Given the description of an element on the screen output the (x, y) to click on. 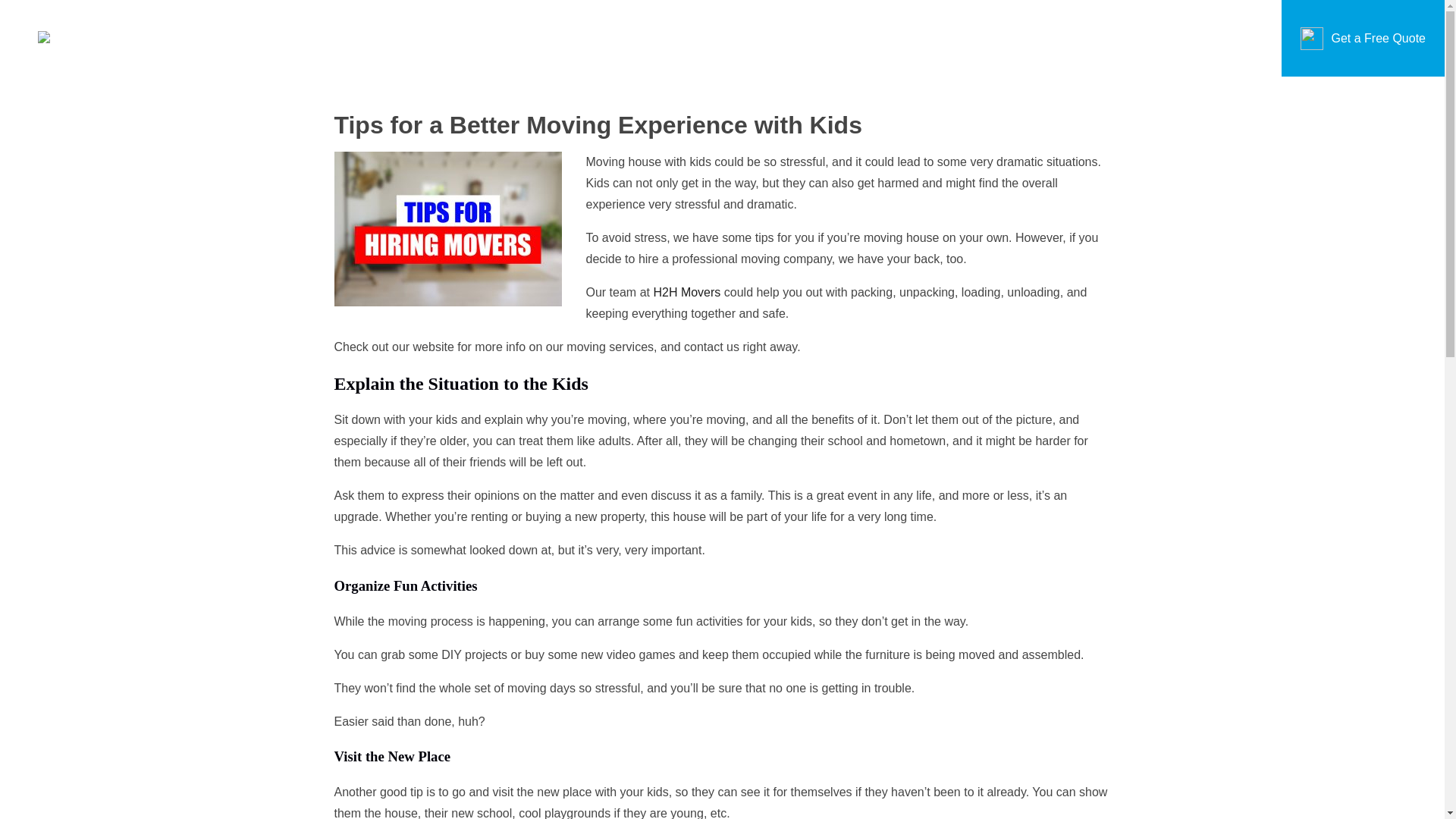
Get a Free Quote (1377, 38)
H2H Movers (686, 291)
Get free quote (607, 402)
